Given the description of an element on the screen output the (x, y) to click on. 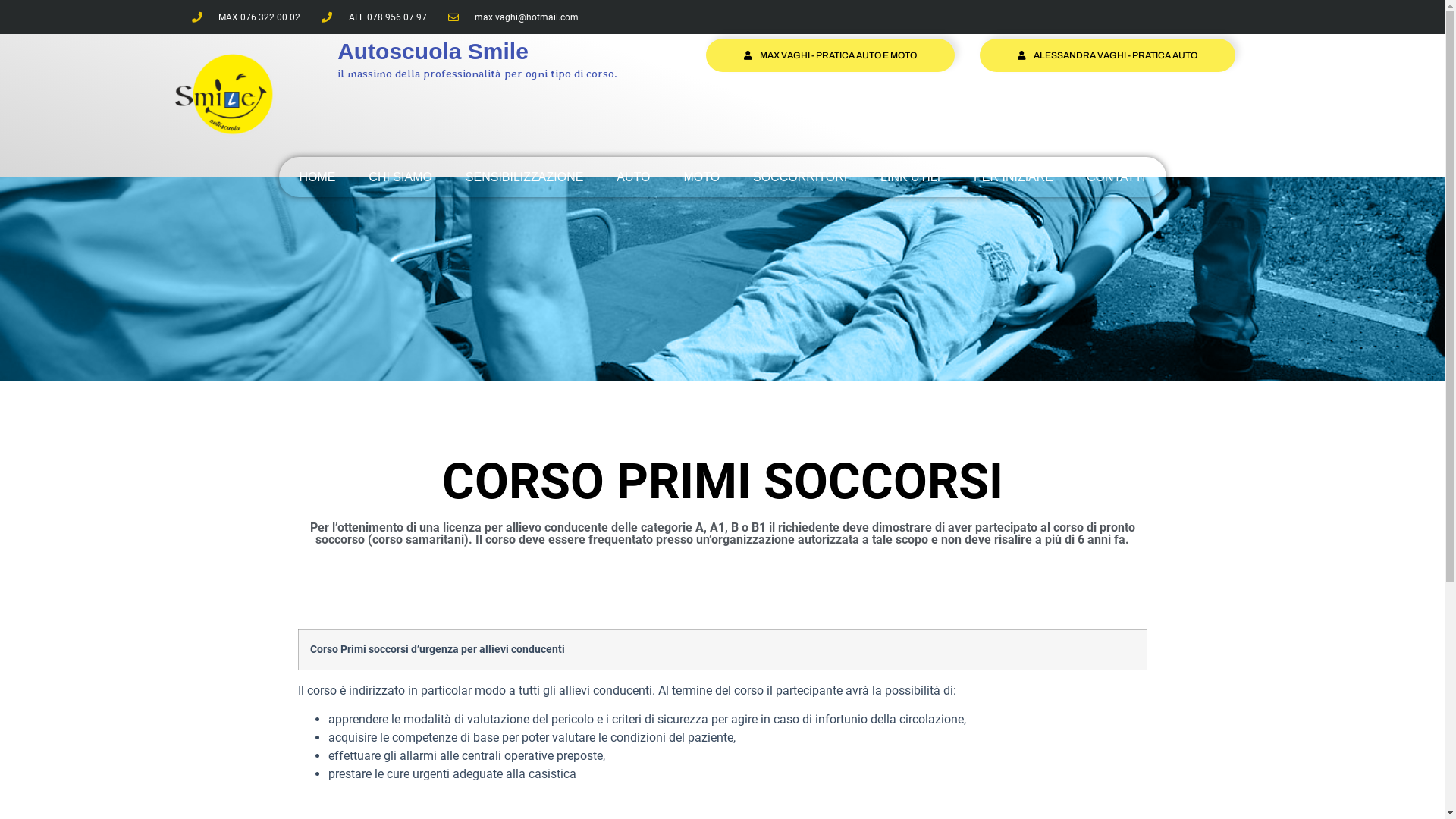
AUTO Element type: text (632, 177)
PER INIZIARE Element type: text (1013, 177)
HOME Element type: text (316, 177)
CONTATTI Element type: text (1116, 177)
MAX VAGHI - PRATICA AUTO E MOTO Element type: text (830, 55)
SENSIBILIZZAZIONE Element type: text (524, 177)
SOCCORRITORI Element type: text (799, 177)
CHI SIAMO Element type: text (399, 177)
ALE 078 956 07 97 Element type: text (373, 17)
ALESSANDRA VAGHI - PRATICA AUTO Element type: text (1107, 55)
MOTO Element type: text (701, 177)
LINK UTILI Element type: text (910, 177)
MAX 076 322 00 02 Element type: text (245, 17)
